Given the description of an element on the screen output the (x, y) to click on. 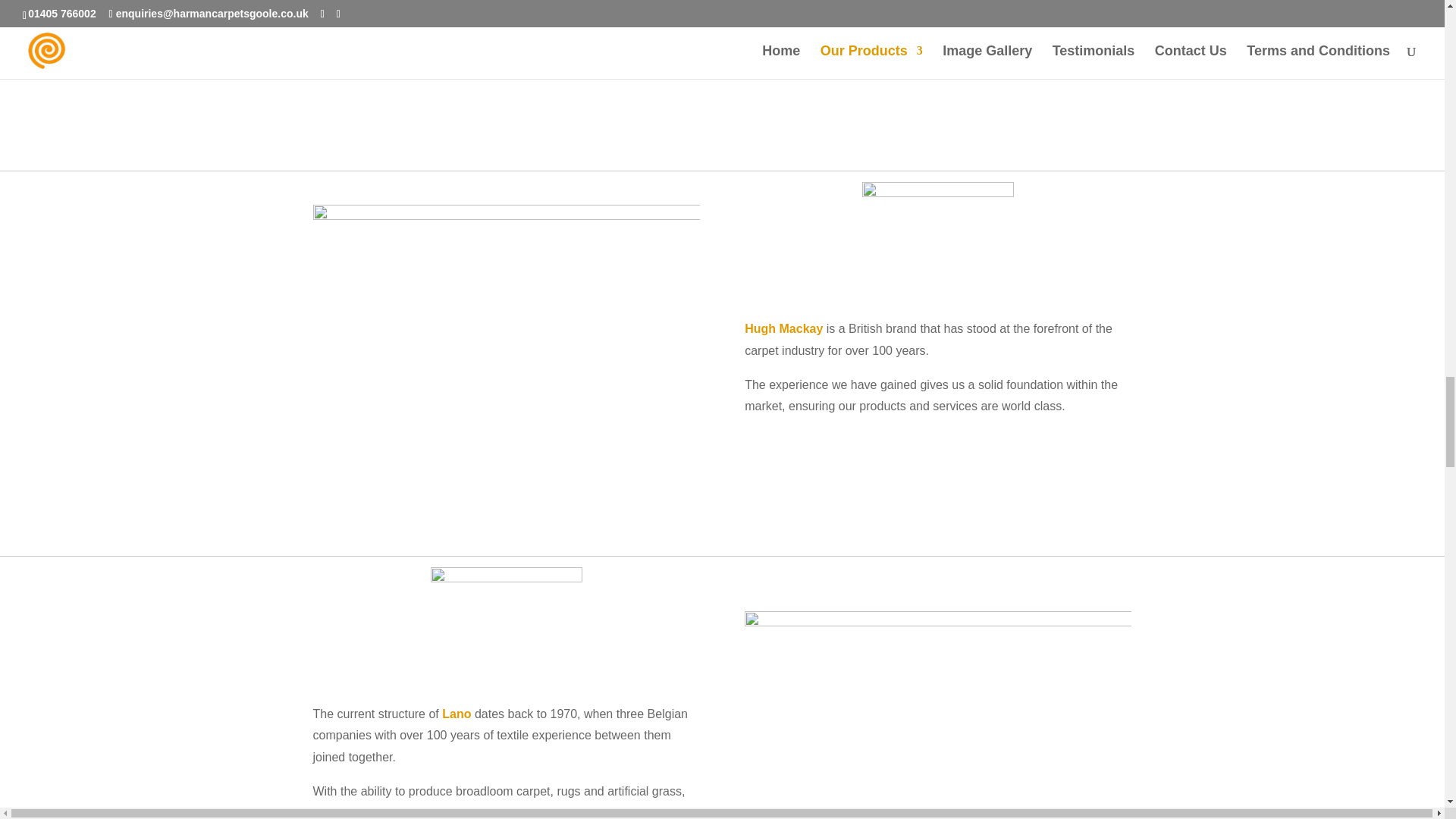
Fibre seagrass (937, 65)
Hugh Mackey durham tweed (505, 360)
Lano Logo 200x150 (506, 623)
Hugh Mackay Logo 200x150 (937, 238)
Hugh Mackay (783, 328)
Lano serenade (937, 714)
Lano (456, 712)
